Given the description of an element on the screen output the (x, y) to click on. 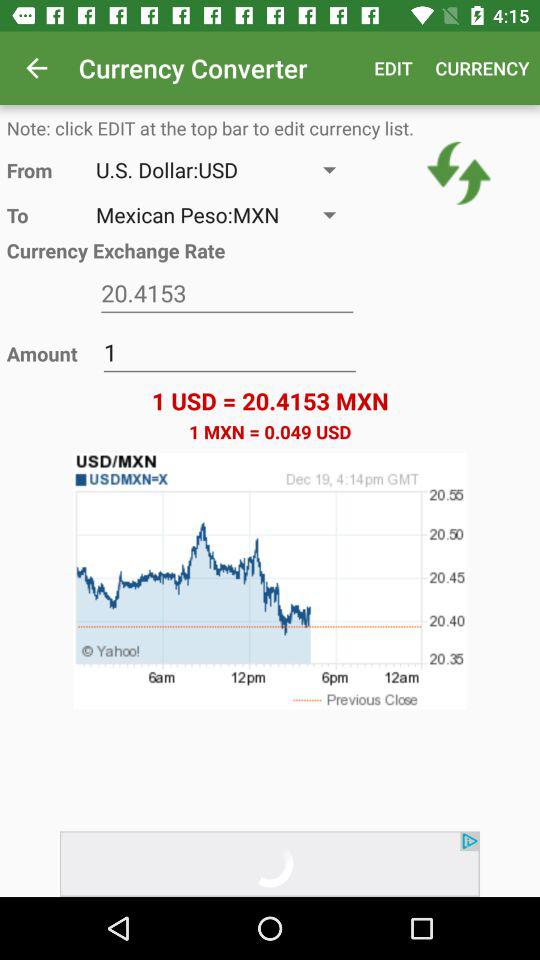
open the icon below currency exchange rate icon (227, 293)
